Given the description of an element on the screen output the (x, y) to click on. 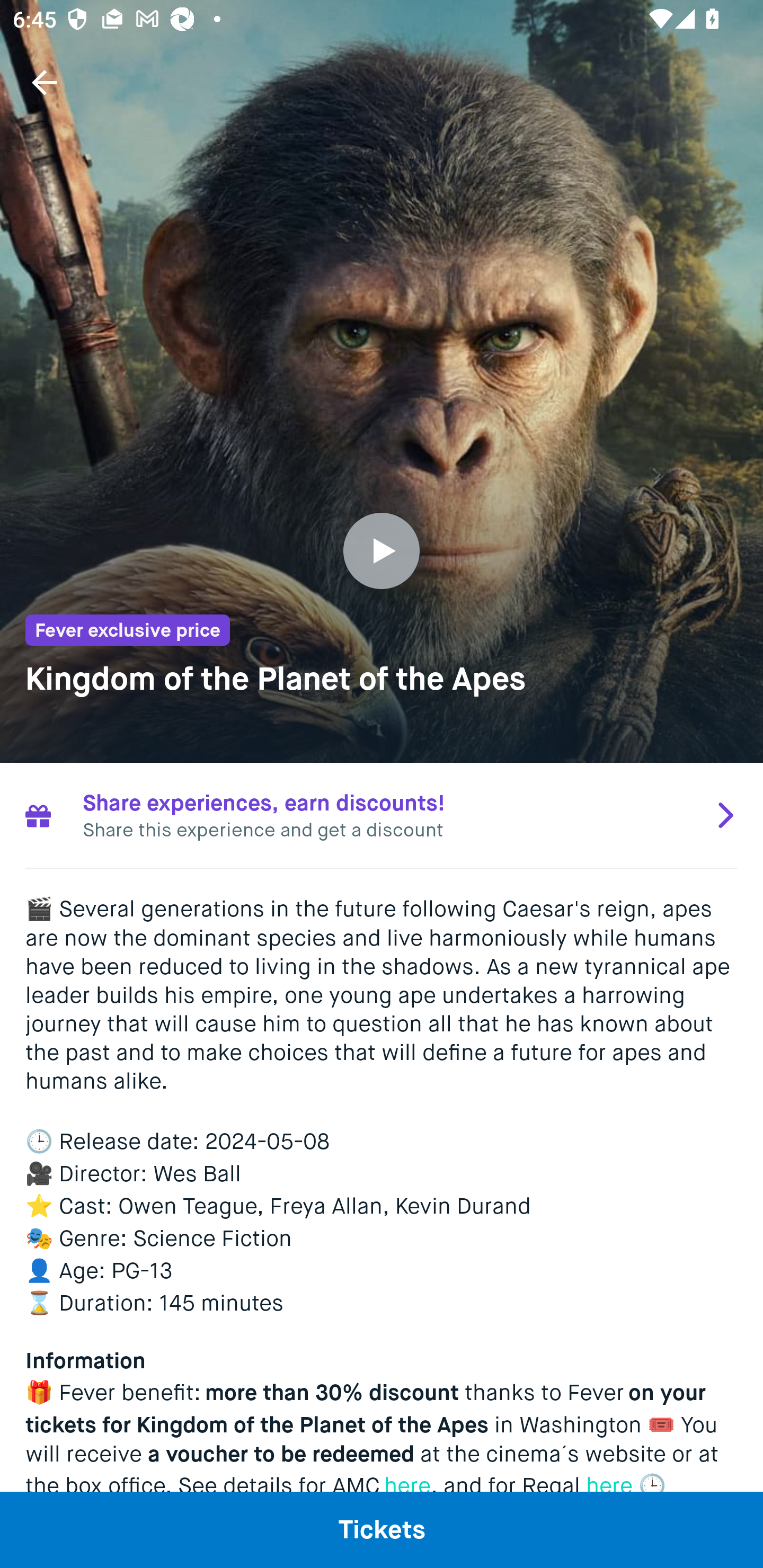
Navigate up (44, 82)
Tickets (381, 1529)
